Given the description of an element on the screen output the (x, y) to click on. 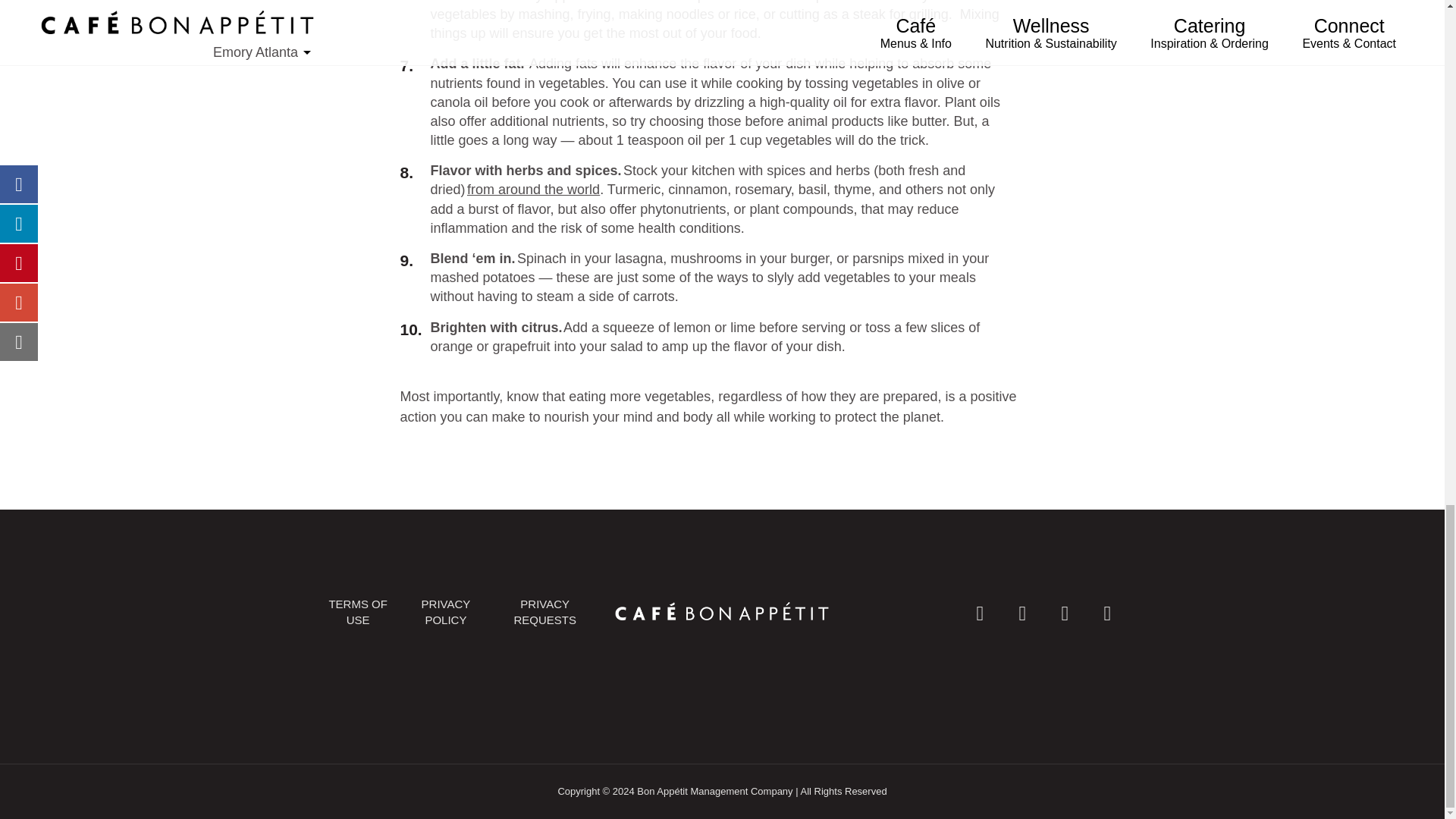
Follow us on Twitter (1064, 611)
TERMS OF USE (358, 611)
Follow us on LinkedIn (1106, 611)
PRIVACY REQUESTS (544, 611)
Follow us on Instagram (1022, 611)
PRIVACY POLICY (446, 611)
from around the world (533, 189)
Find us on Facebook (979, 611)
Follow us on Twitter (1064, 611)
Emory Atlanta (721, 610)
Find us on Facebook (979, 611)
Follow us on LinkedIn (1106, 611)
Follow us on Instagram (1022, 611)
